Given the description of an element on the screen output the (x, y) to click on. 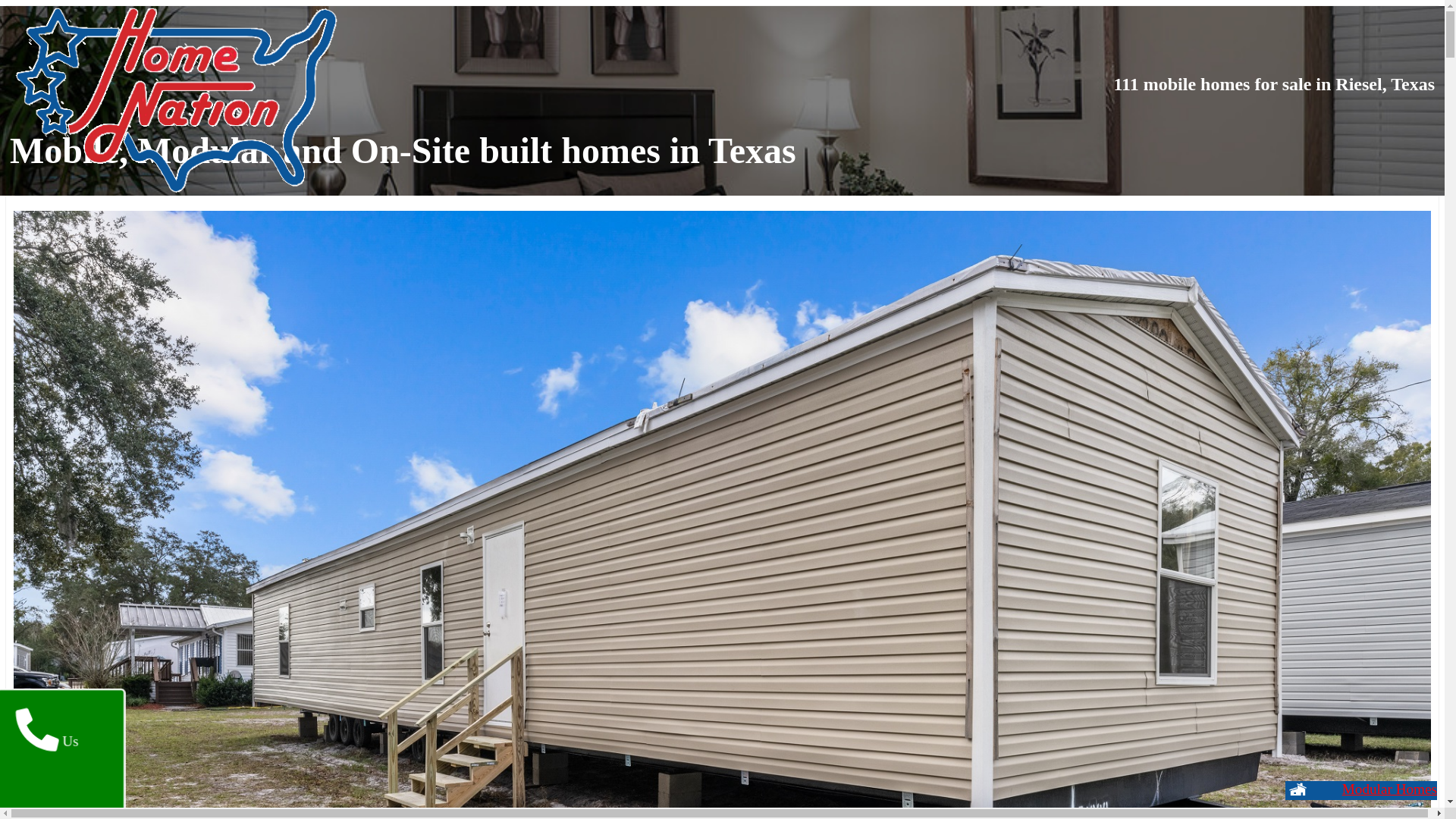
Modular Homes (1361, 790)
Single Wides (1373, 790)
Double Wides (1363, 790)
